Given the description of an element on the screen output the (x, y) to click on. 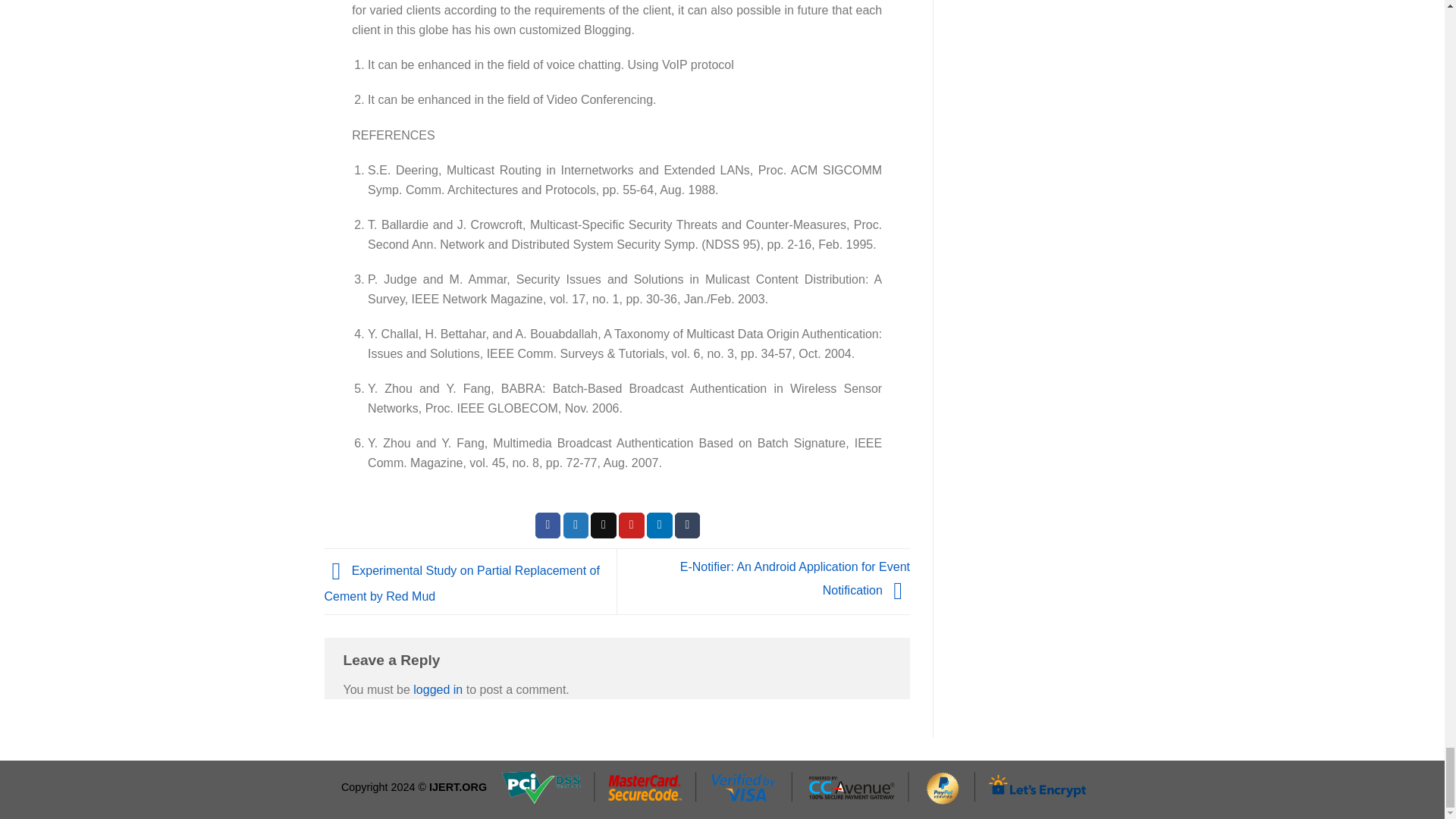
Pin on Pinterest (631, 525)
Share on LinkedIn (659, 525)
Share on Twitter (576, 525)
Share on Tumblr (687, 525)
Share on Facebook (547, 525)
Email to a Friend (603, 525)
